Given the description of an element on the screen output the (x, y) to click on. 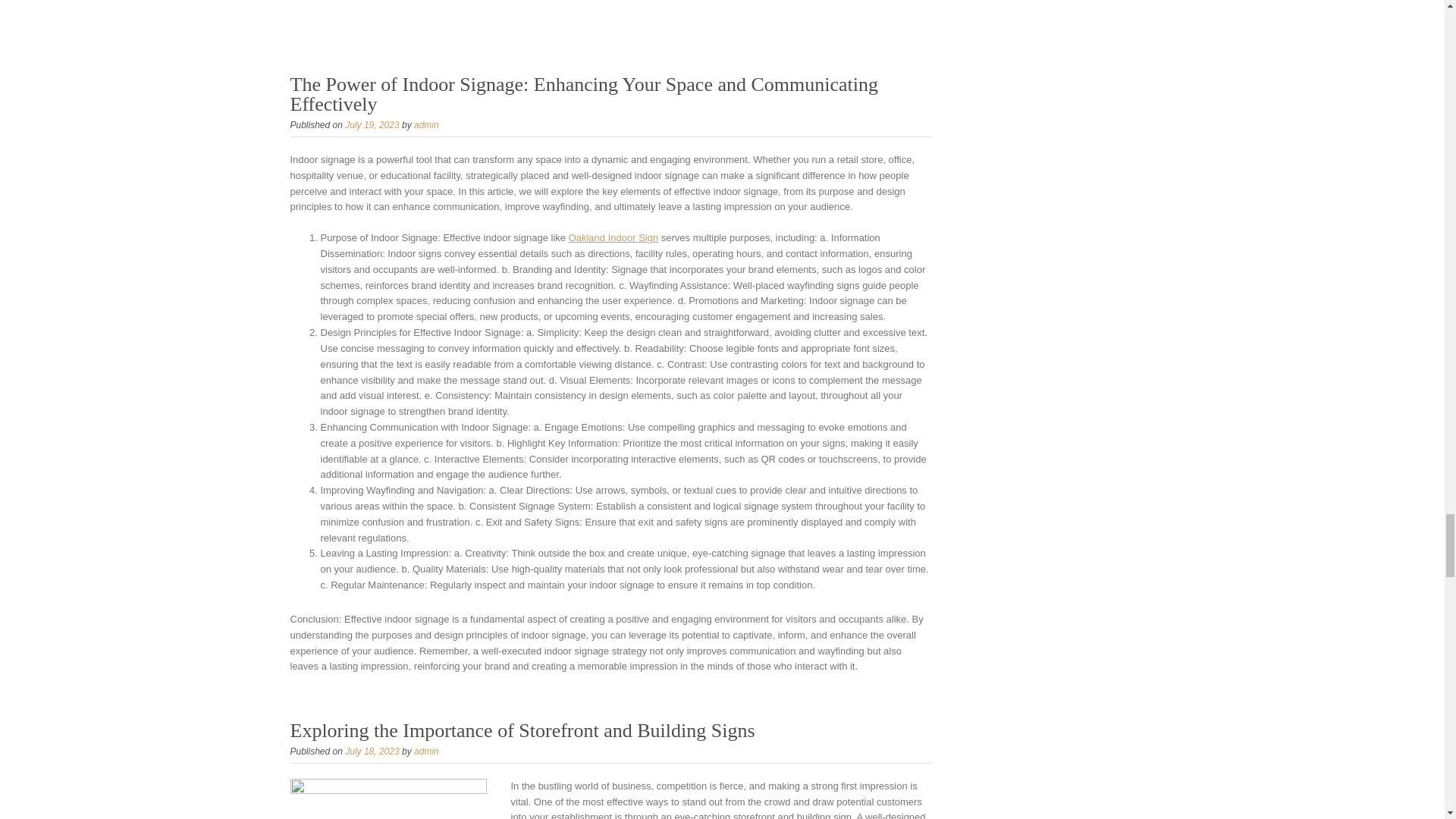
admin (426, 124)
July 19, 2023 (371, 124)
Exploring the Importance of Storefront and Building Signs (521, 730)
YouTube video player (609, 11)
